Given the description of an element on the screen output the (x, y) to click on. 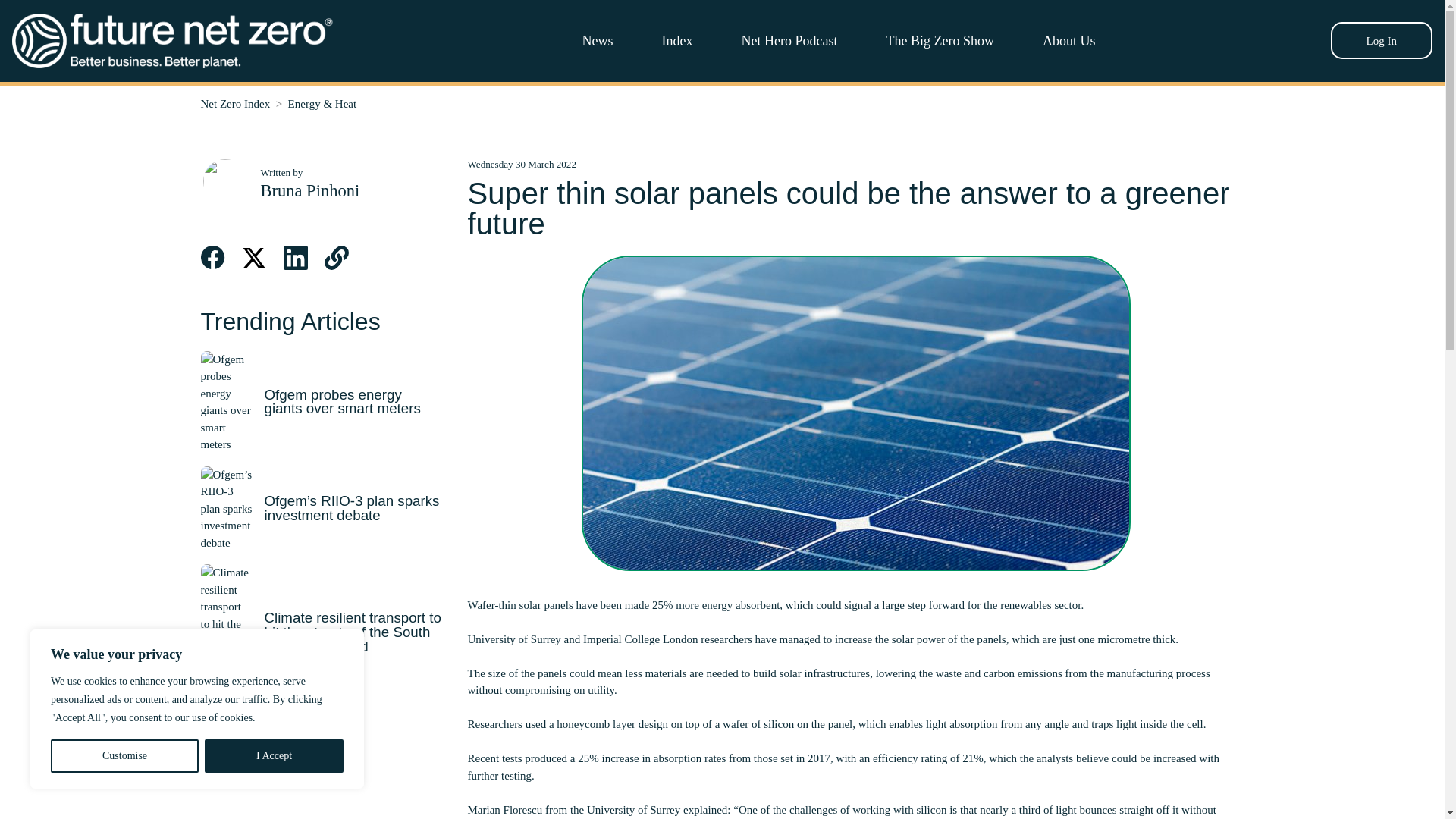
Net Zero Index (234, 102)
Index (677, 40)
Net Hero Podcast (789, 40)
Log In (1381, 40)
Share on Twitter (253, 257)
The Big Zero Show (940, 40)
solar (790, 673)
News (597, 40)
Share on LinkedIn (295, 257)
About Us (1069, 40)
University of Surrey (513, 639)
Share on Facebook (212, 257)
